Given the description of an element on the screen output the (x, y) to click on. 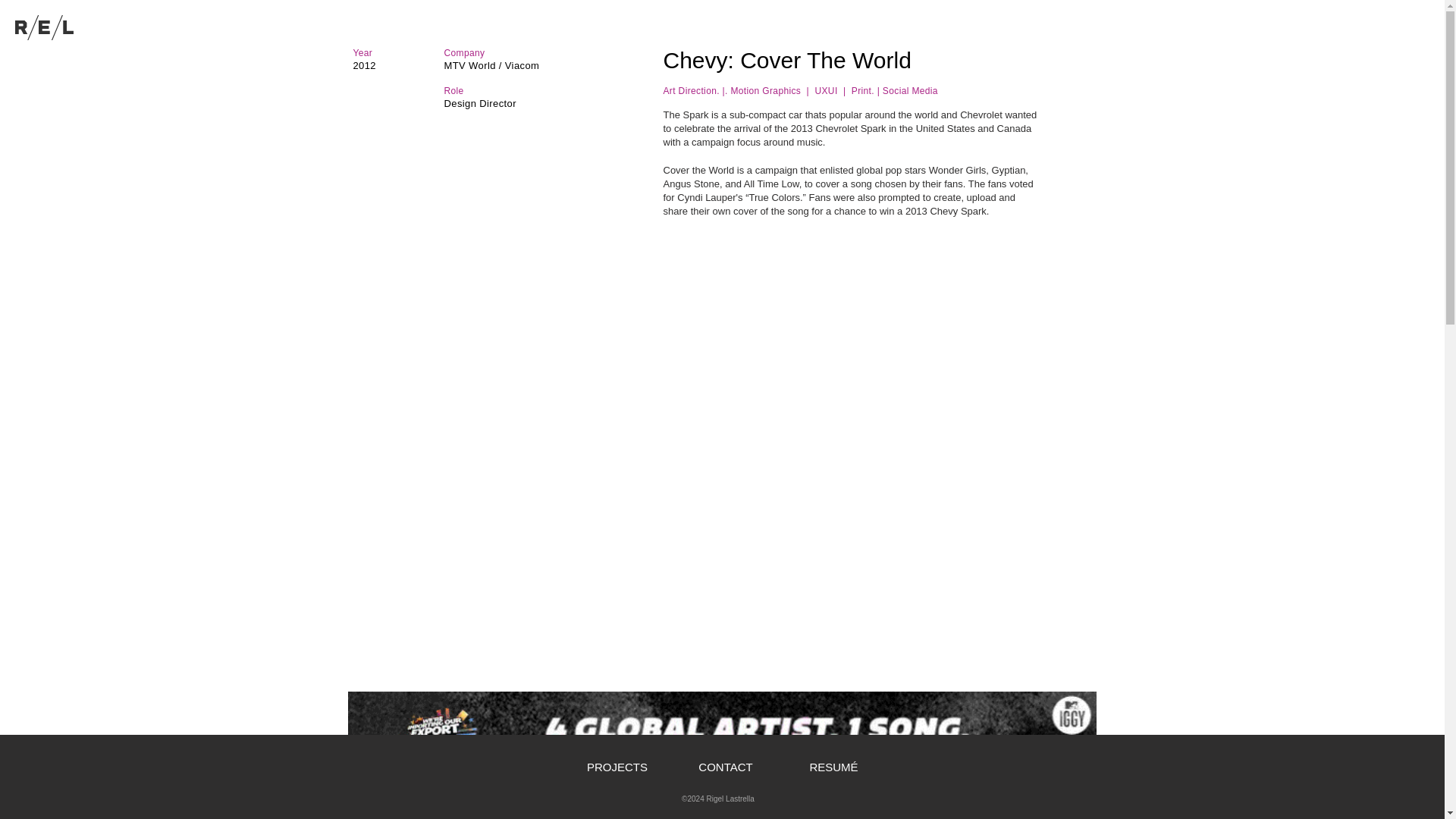
CTW-Flyer.jpg (907, 811)
PROJECTS (616, 766)
CONTACT (725, 766)
